Given the description of an element on the screen output the (x, y) to click on. 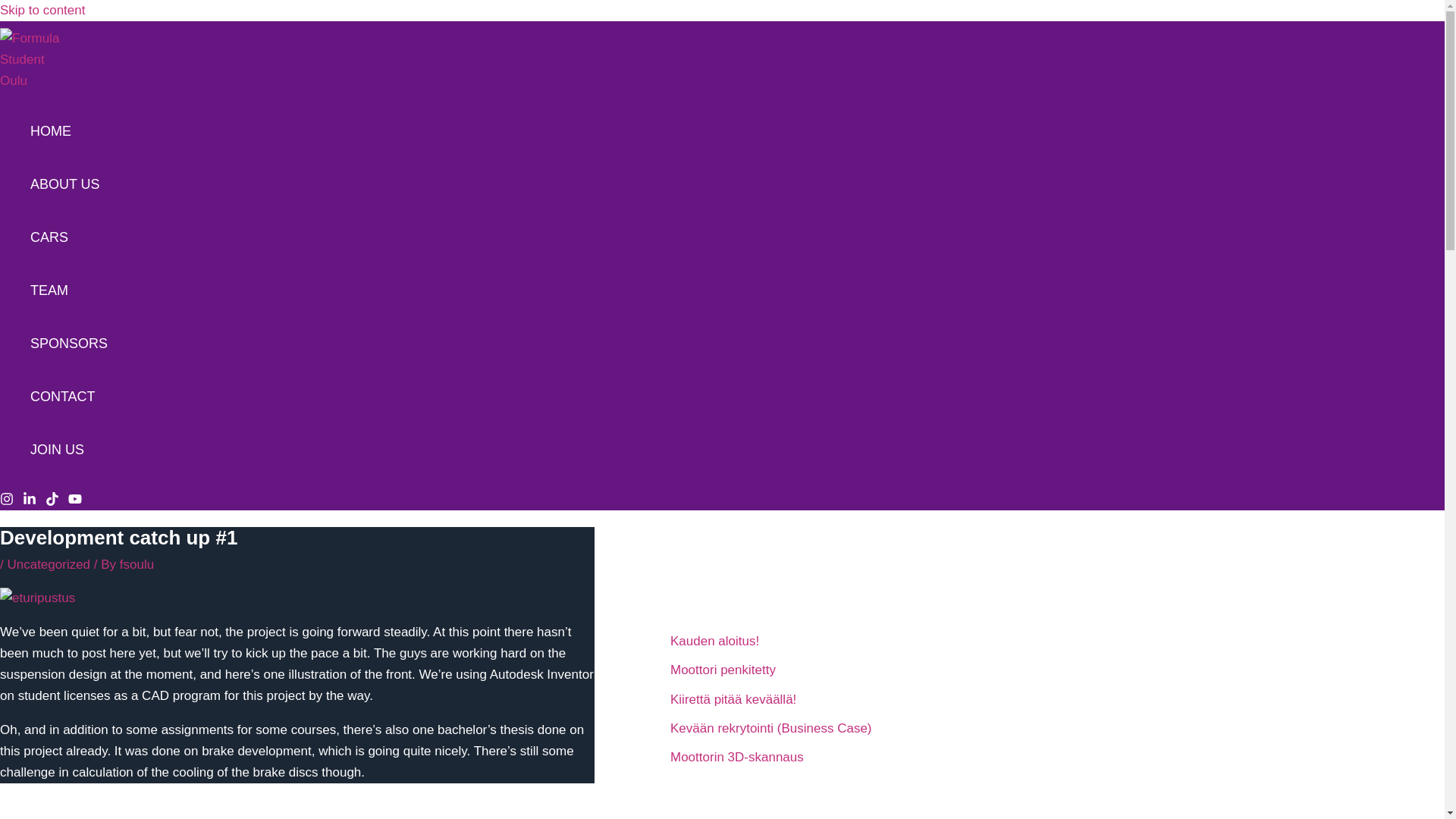
ABOUT US (68, 184)
Skip to content (42, 10)
Moottorin 3D-skannaus (736, 757)
Moottori penkitetty (722, 669)
TEAM (68, 289)
Kauden aloitus! (713, 640)
SPONSORS (68, 343)
fsoulu (136, 564)
Skip to content (42, 10)
CONTACT (68, 396)
